Given the description of an element on the screen output the (x, y) to click on. 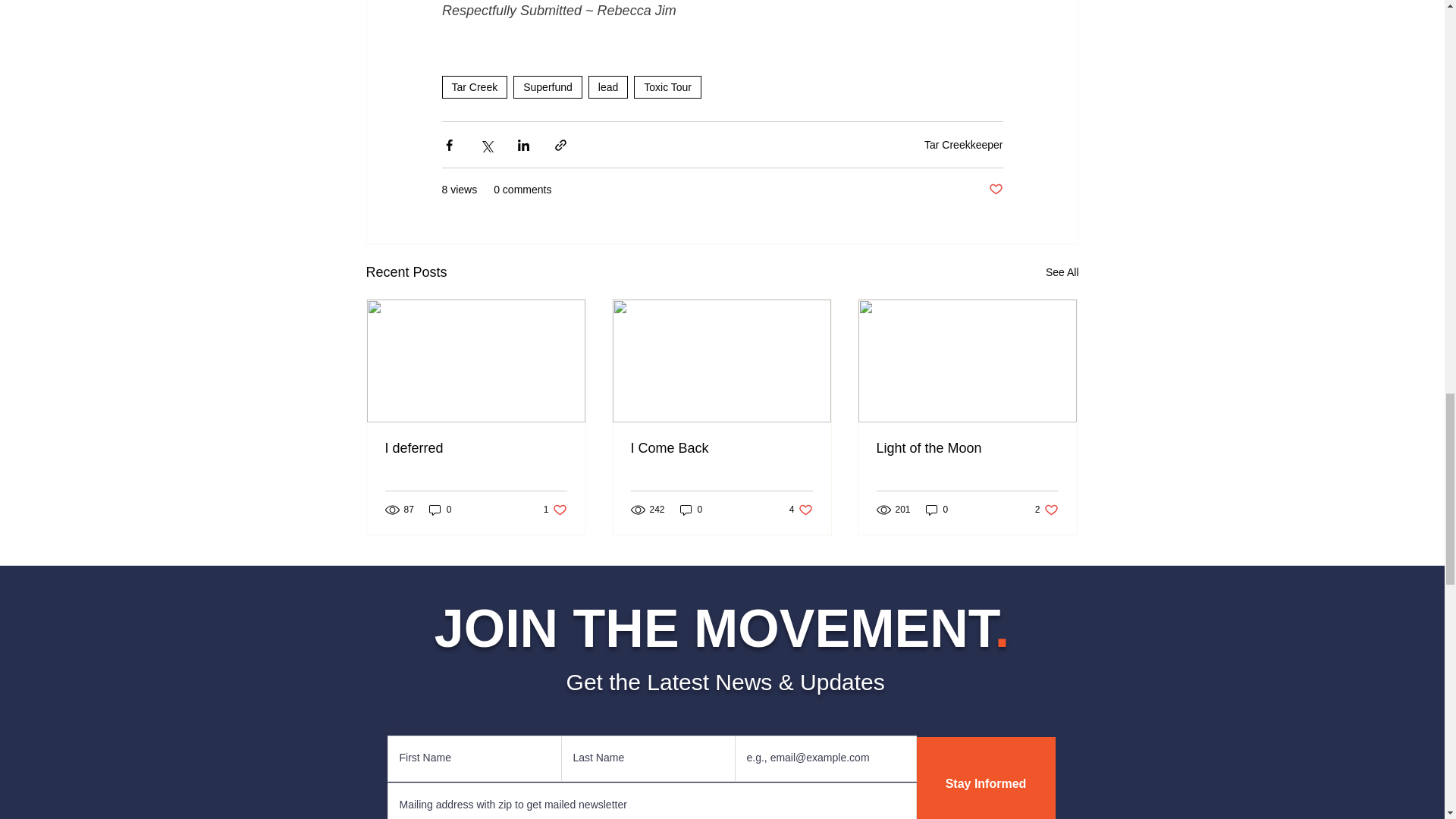
Toxic Tour (667, 87)
Post not marked as liked (995, 189)
See All (1061, 272)
I Come Back (721, 448)
Tar Creek (473, 87)
0 (440, 509)
I deferred (476, 448)
Tar Creekkeeper (963, 144)
0 (691, 509)
Superfund (555, 509)
lead (547, 87)
